Given the description of an element on the screen output the (x, y) to click on. 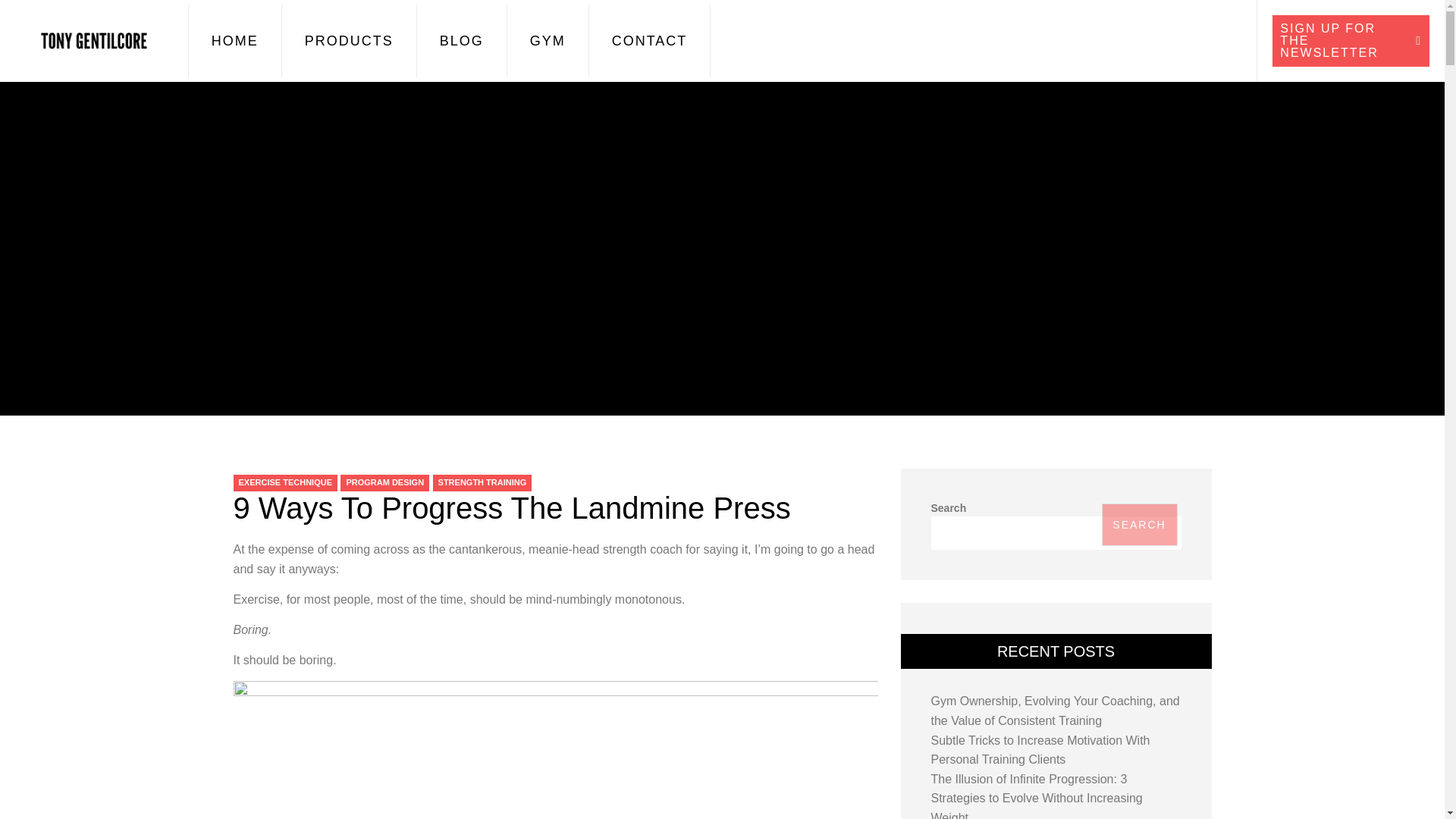
PROGRAM DESIGN (384, 483)
SIGN UP FOR THE NEWSLETTER (1350, 40)
EXERCISE TECHNIQUE (284, 483)
STRENGTH TRAINING (482, 483)
CONTACT (649, 40)
BLOG (461, 40)
SEARCH (1138, 524)
9 Ways To Progress The Landmine Press (511, 507)
